Given the description of an element on the screen output the (x, y) to click on. 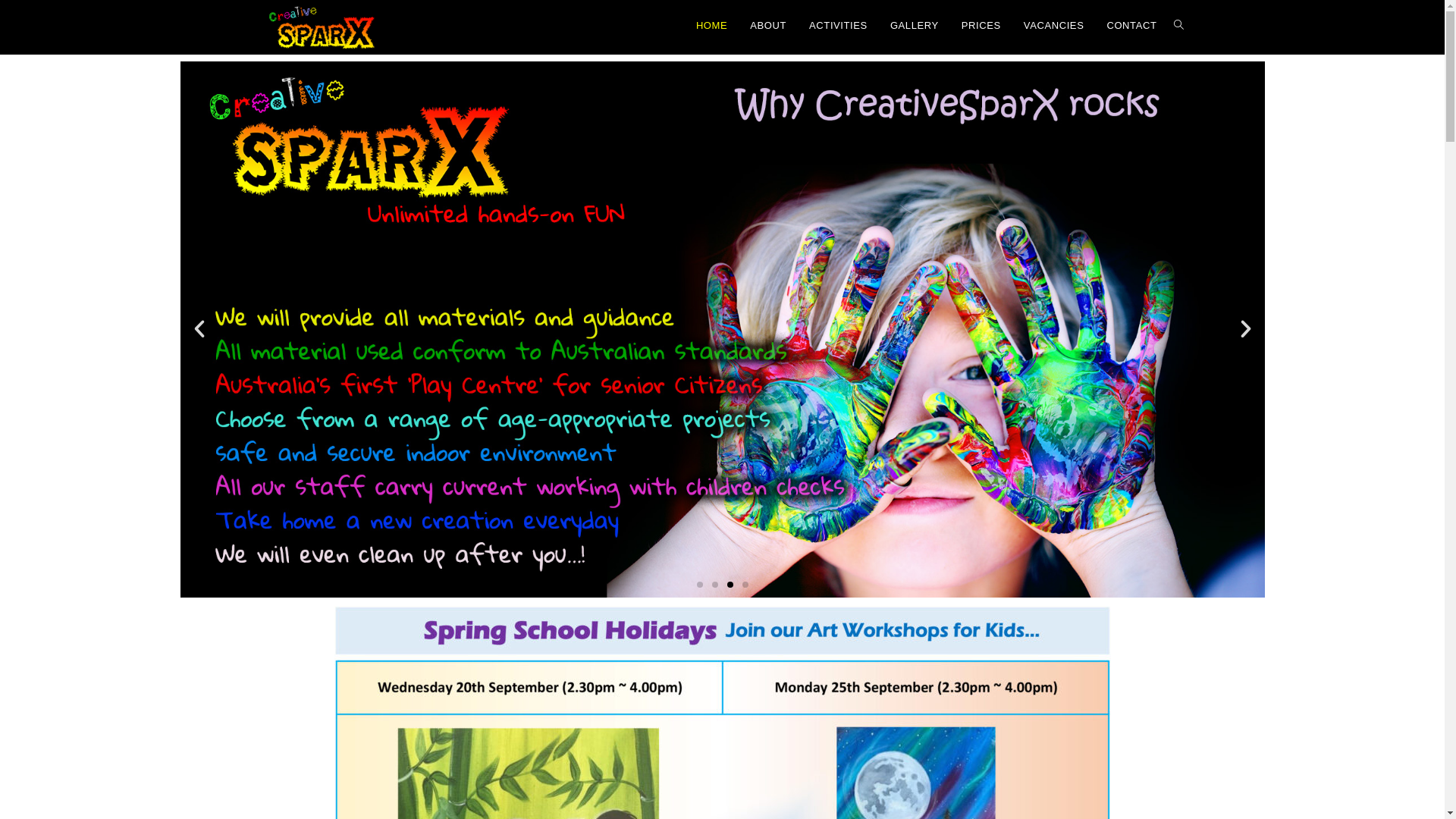
CONTACT Element type: text (1131, 25)
GALLERY Element type: text (914, 25)
ABOUT Element type: text (767, 25)
VACANCIES Element type: text (1053, 25)
ACTIVITIES Element type: text (837, 25)
HOME Element type: text (711, 25)
PRICES Element type: text (981, 25)
